Given the description of an element on the screen output the (x, y) to click on. 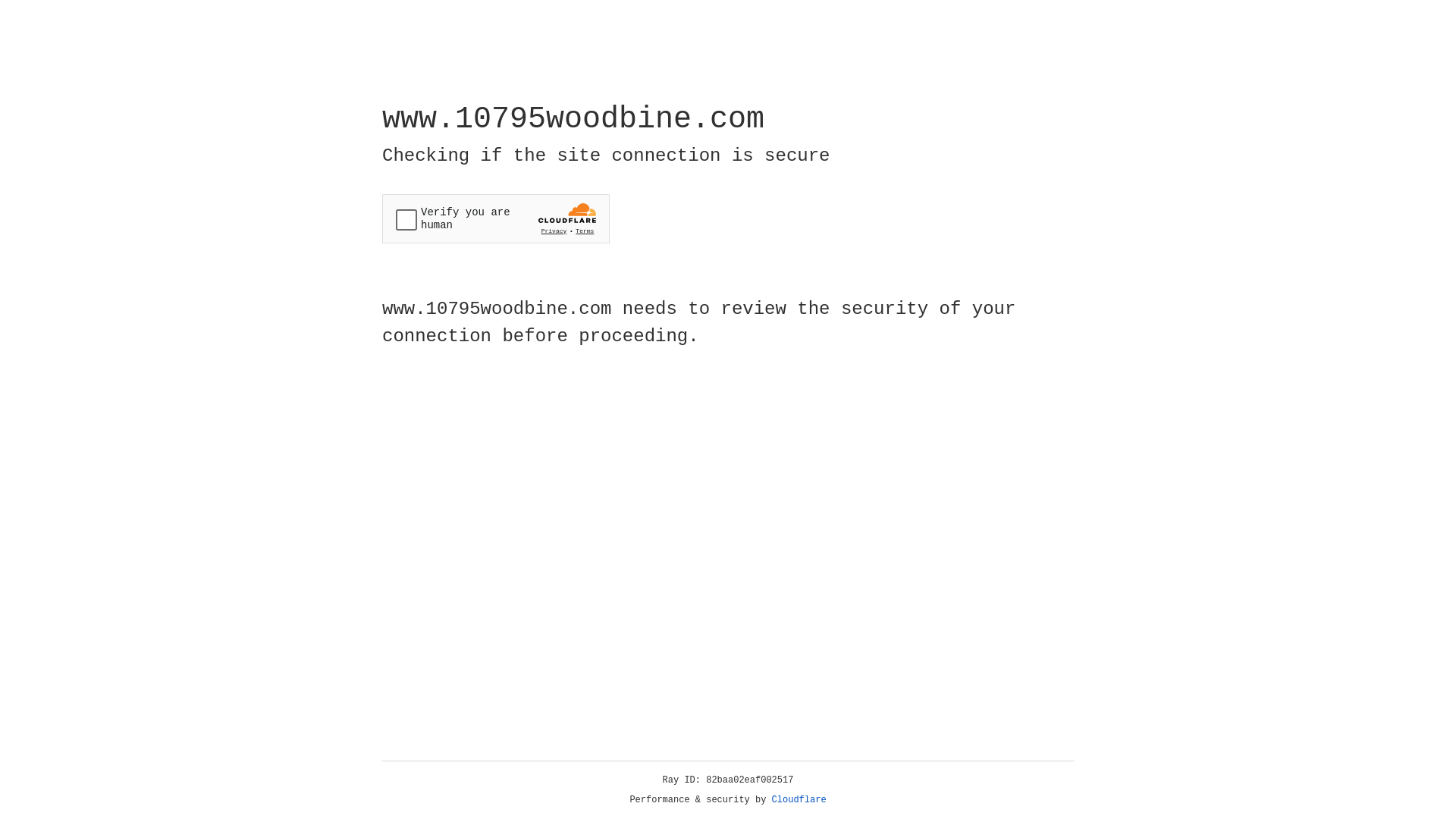
Widget containing a Cloudflare security challenge Element type: hover (495, 218)
Cloudflare Element type: text (798, 799)
